Given the description of an element on the screen output the (x, y) to click on. 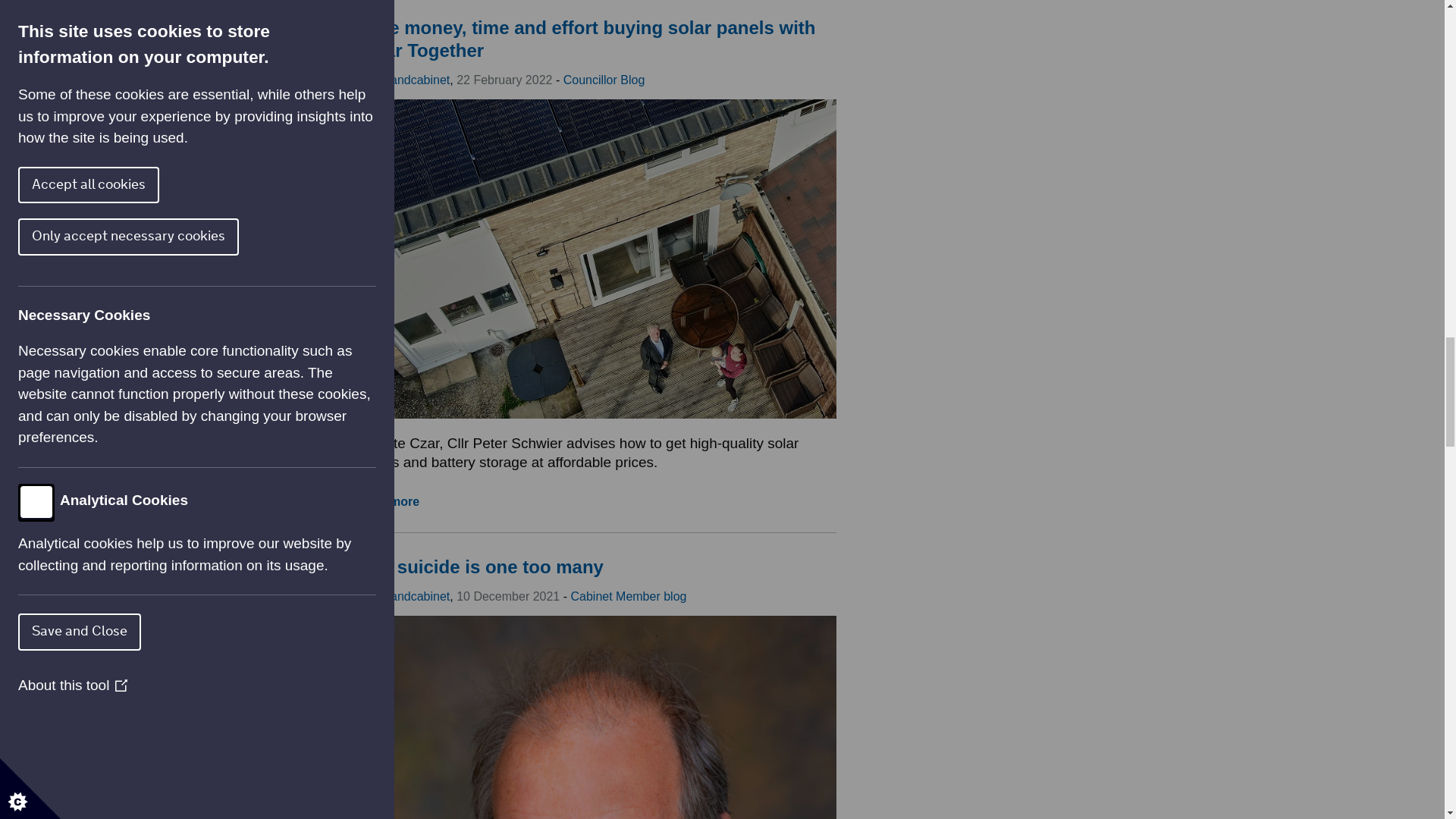
Read more (387, 501)
One suicide is one too many (479, 566)
Cabinet Member blog (627, 595)
leaderandcabinet (402, 79)
Councillor Blog (604, 79)
leaderandcabinet (402, 595)
Posts by leaderandcabinet (402, 595)
Posts by leaderandcabinet (402, 79)
